Given the description of an element on the screen output the (x, y) to click on. 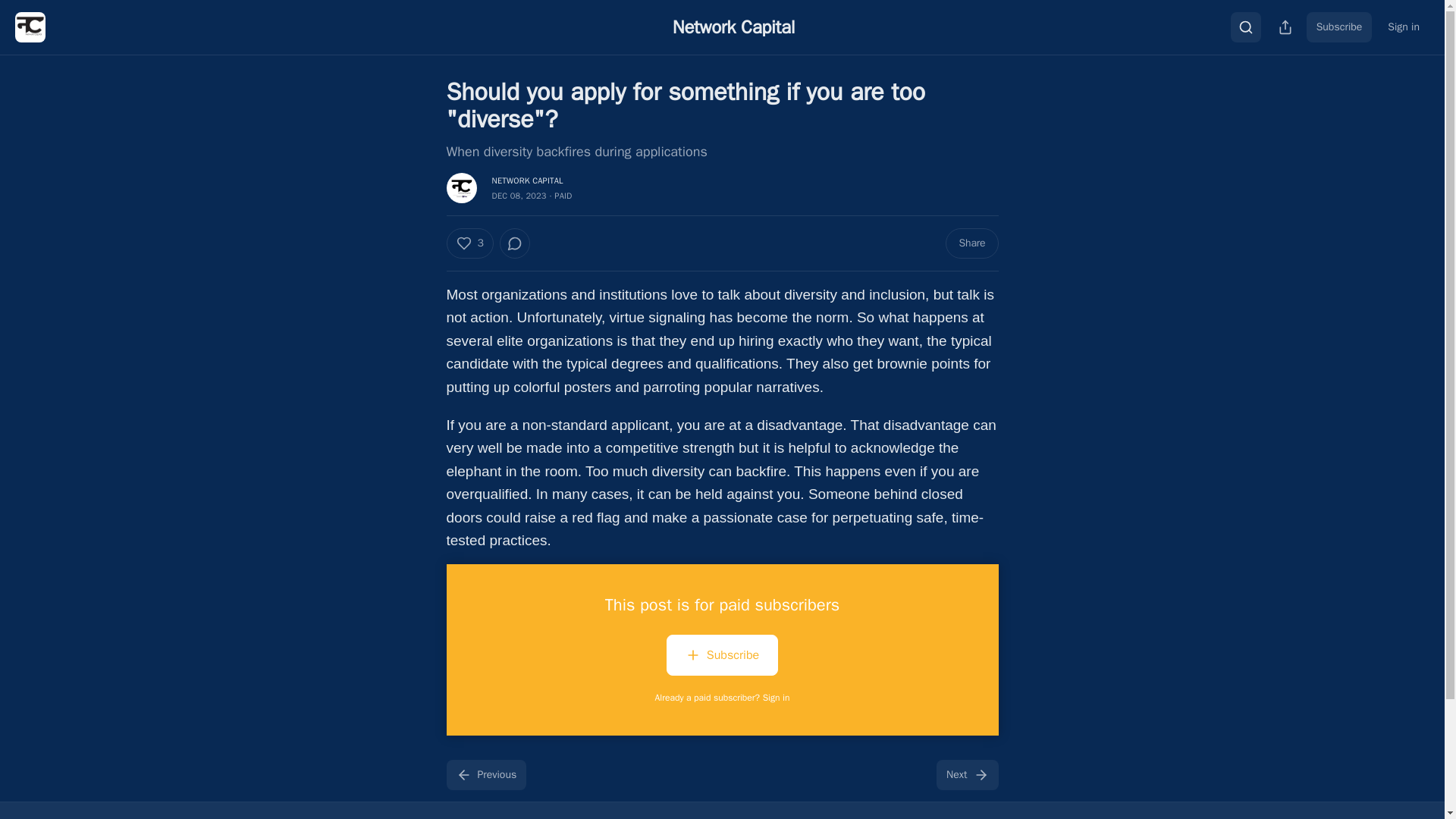
Subscribe (1339, 27)
3 (469, 243)
NETWORK CAPITAL (527, 180)
Next (966, 775)
Network Capital (733, 26)
Share (970, 243)
Subscribe (721, 654)
Subscribe (721, 658)
Already a paid subscriber? Sign in (722, 697)
Sign in (1403, 27)
Previous (485, 775)
